Given the description of an element on the screen output the (x, y) to click on. 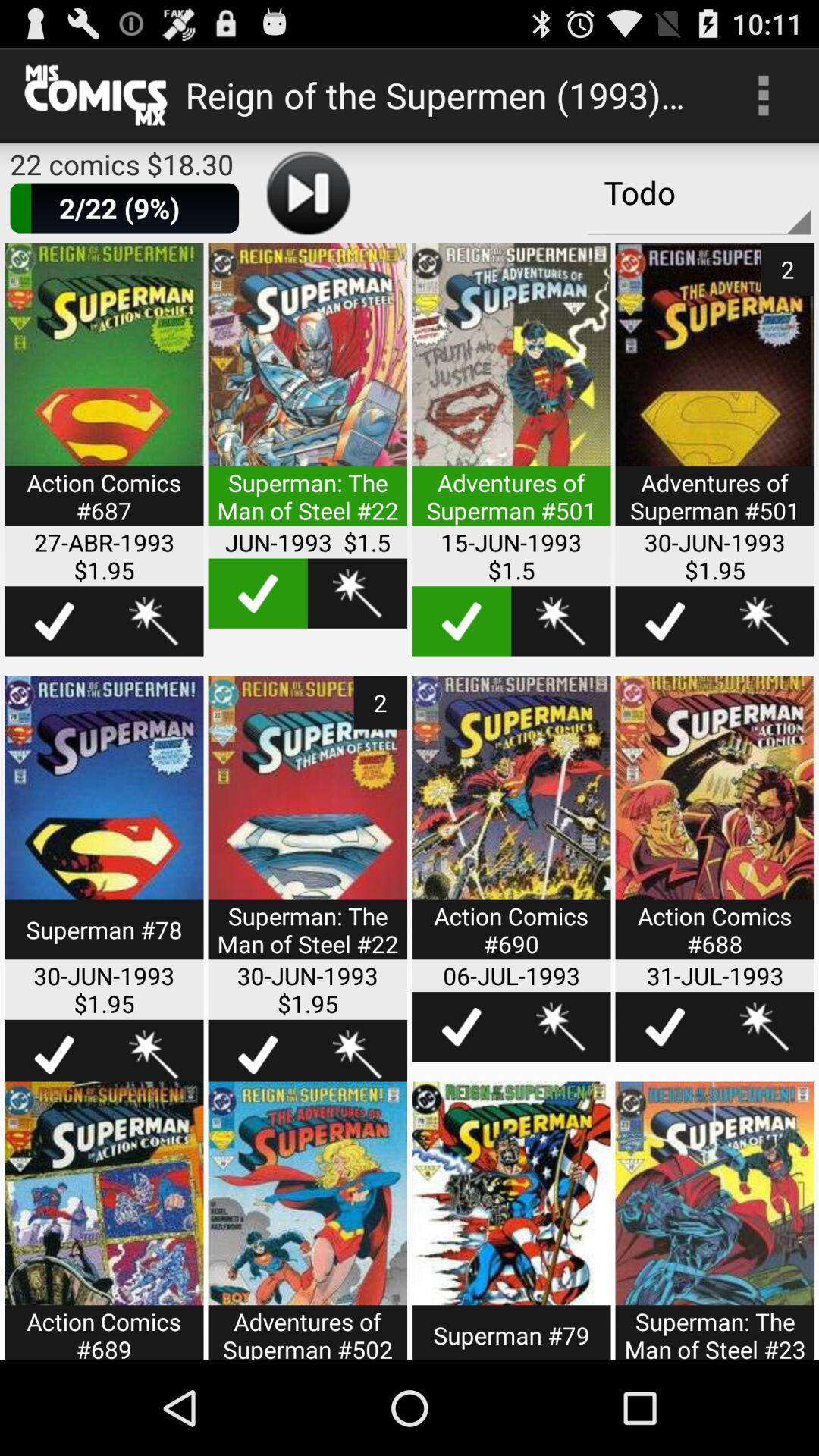
select comicbook (307, 1220)
